Given the description of an element on the screen output the (x, y) to click on. 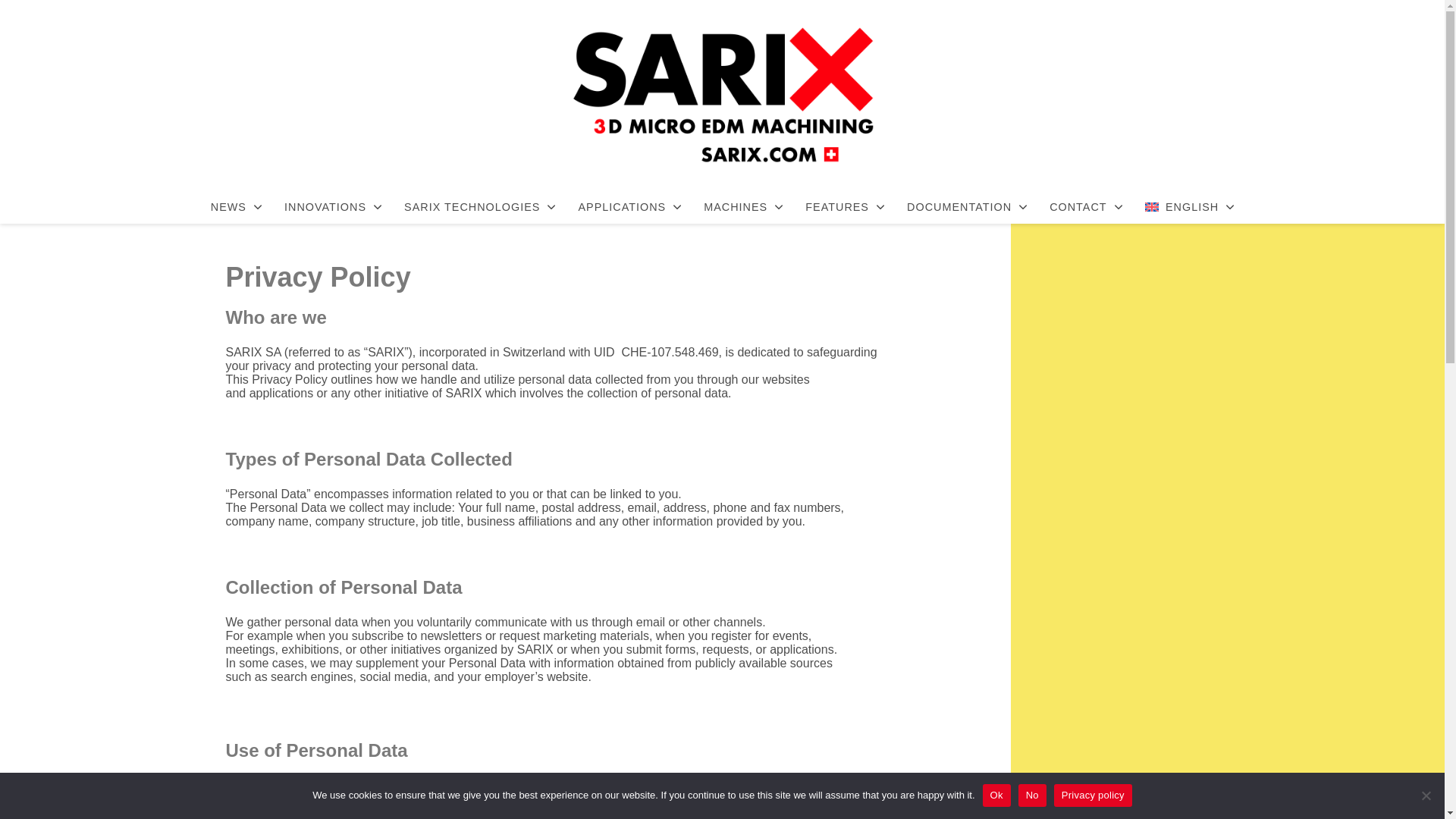
INNOVATIONS (333, 206)
MACHINES (743, 206)
SARIX TECHNOLOGIES (479, 206)
NEWS (236, 206)
English (1190, 206)
APPLICATIONS (629, 206)
No (1425, 795)
FEATURES (844, 206)
